Given the description of an element on the screen output the (x, y) to click on. 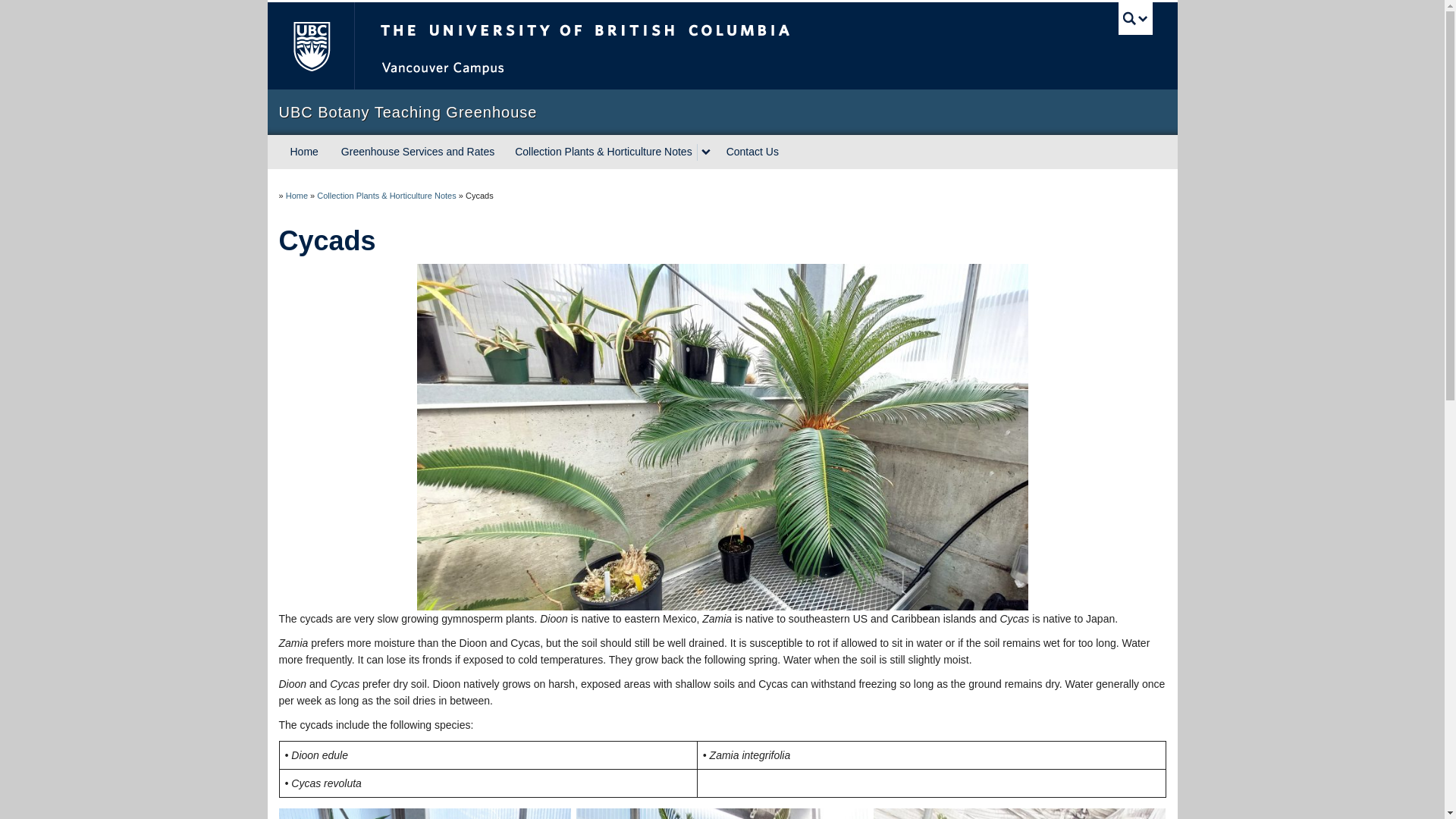
UBC Botany Teaching Greenhouse (722, 112)
Home (296, 194)
UBC Botany Teaching Greenhouse (722, 112)
Home (304, 151)
The University of British Columbia (309, 45)
UBC Botany Greenhouse  (296, 194)
Greenhouse Services and Rates (417, 151)
UBC Search (1135, 18)
Contact Us (752, 151)
The University of British Columbia (635, 45)
